Given the description of an element on the screen output the (x, y) to click on. 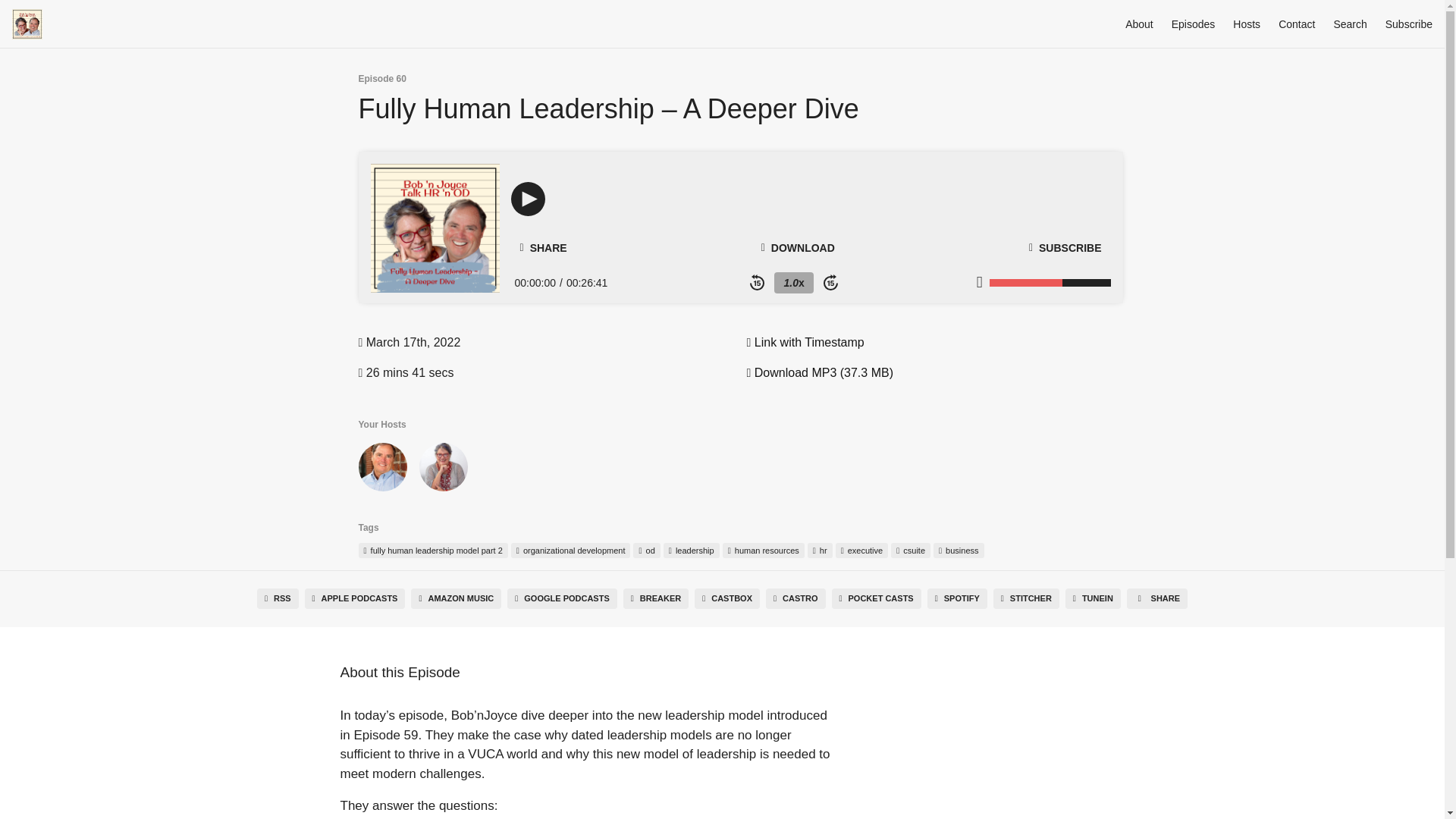
Link with Timestamp (804, 341)
Bob Stapleton (382, 470)
hr (820, 549)
business (958, 549)
human resources (763, 549)
SHARE (543, 247)
GOOGLE PODCASTS (561, 598)
organizational development (570, 549)
1.0x (793, 282)
leadership (691, 549)
fully human leadership model part 2 (432, 549)
RSS (277, 598)
SUBSCRIBE (1065, 247)
Search (1350, 24)
DOWNLOAD (798, 247)
